Given the description of an element on the screen output the (x, y) to click on. 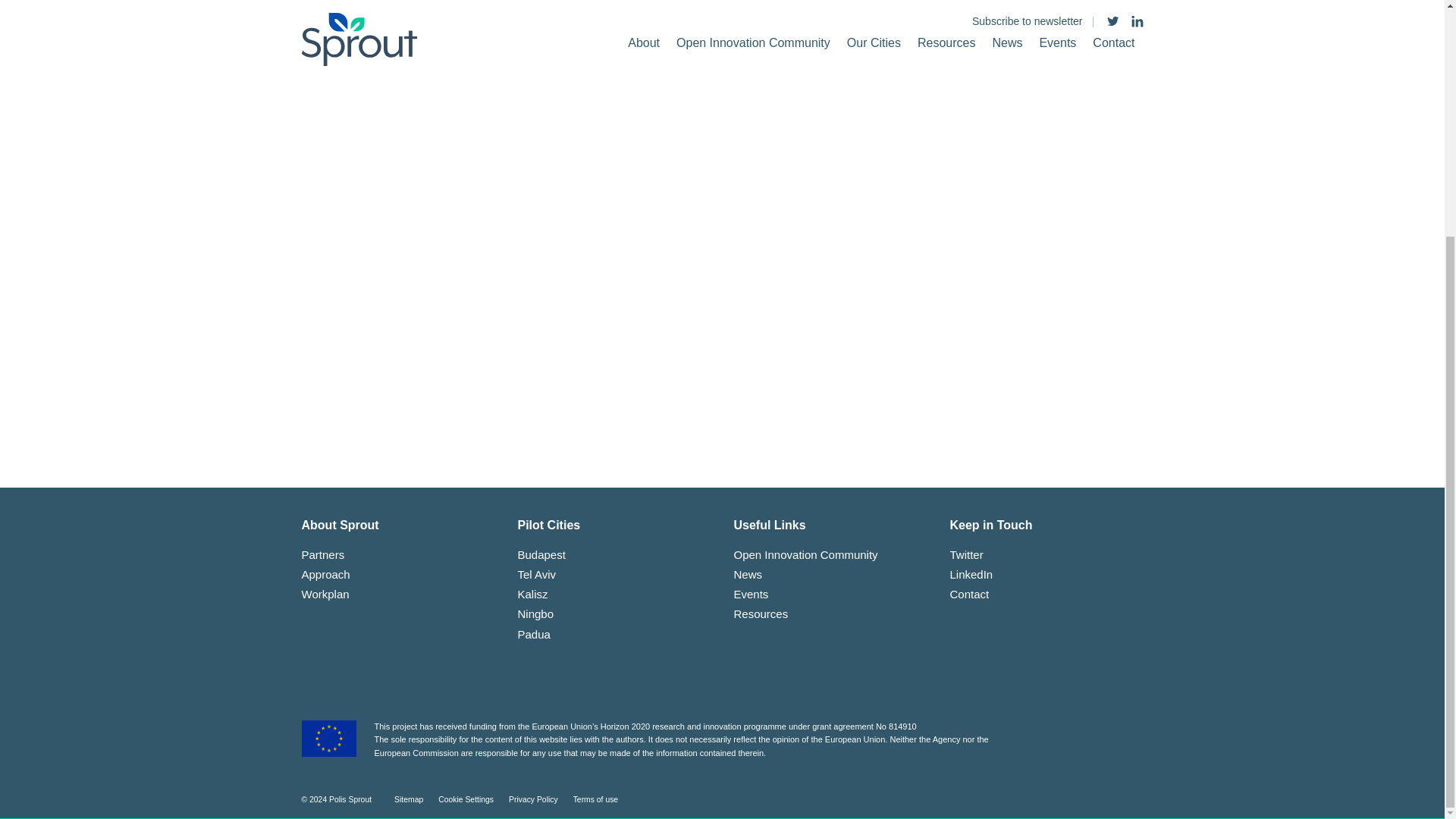
Ningbo (534, 613)
Approach (325, 574)
Budapest (540, 554)
Contact (968, 594)
Tel Aviv (536, 574)
Twitter (965, 554)
Partners (323, 554)
Resources (761, 613)
LinkedIn (970, 574)
News (747, 574)
